Given the description of an element on the screen output the (x, y) to click on. 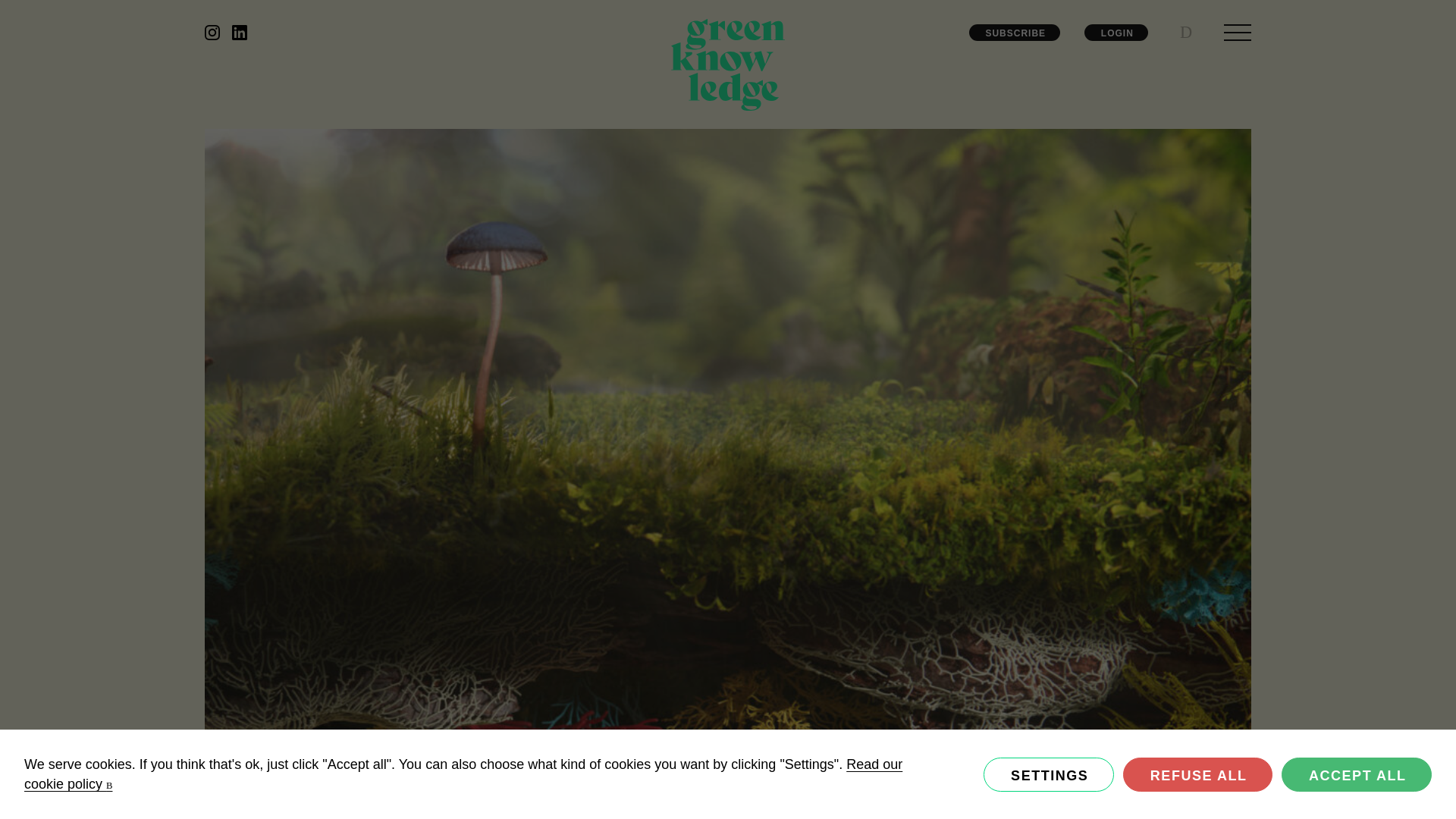
LOGIN (1116, 32)
Green Knowledge (727, 67)
SUBSCRIBE (1014, 32)
